Given the description of an element on the screen output the (x, y) to click on. 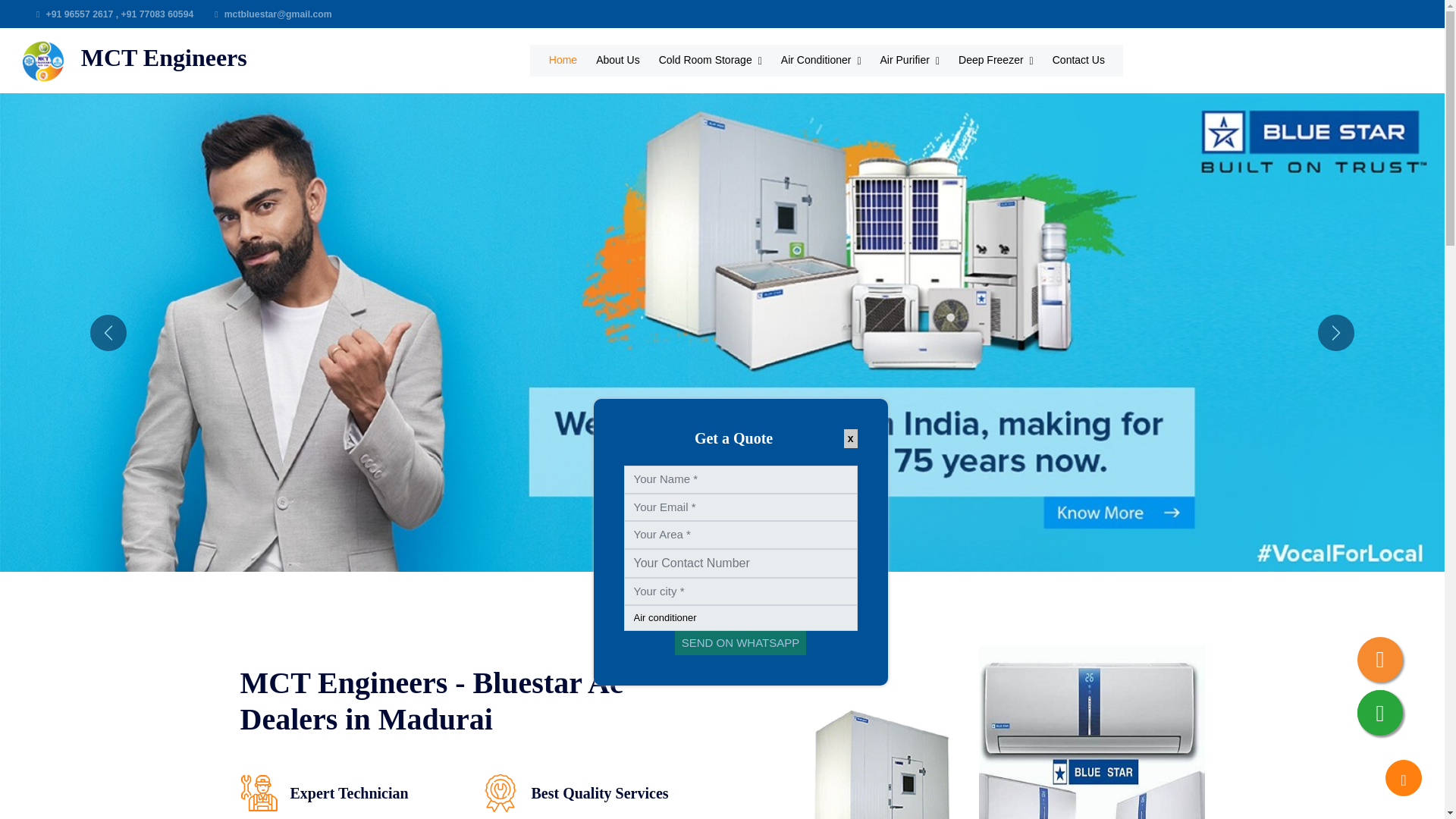
Air Conditioner (820, 60)
MCT Engineers (130, 60)
SEND ON WHATSAPP (740, 643)
About Us (617, 60)
Contact Us (1078, 60)
Deep Freezer (995, 60)
SEND ON WHATSAPP (740, 643)
Air Purifier (909, 60)
Cold Room Storage (710, 60)
